Given the description of an element on the screen output the (x, y) to click on. 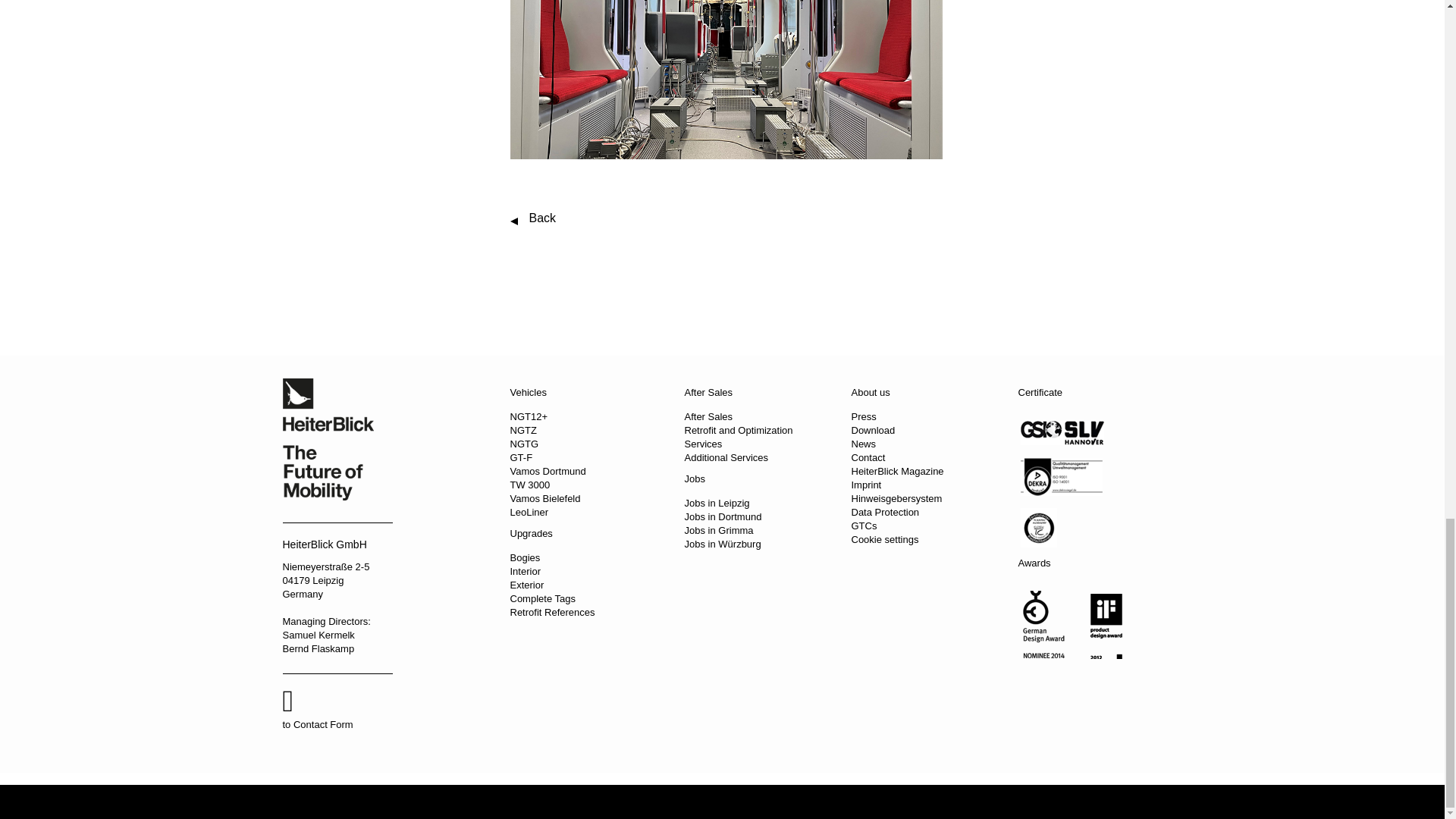
GT-F (520, 457)
NGTG (523, 443)
After Sales (708, 416)
TW 3000 (529, 484)
Jobs in Grimma (718, 530)
LeoLiner (528, 511)
Vehicles (527, 392)
Complete Tags (542, 598)
to Contact Form (336, 709)
Jobs (694, 478)
Exterior (526, 584)
Jobs in Leipzig (716, 502)
Upgrades (530, 532)
After Sales (708, 392)
Services (703, 443)
